Given the description of an element on the screen output the (x, y) to click on. 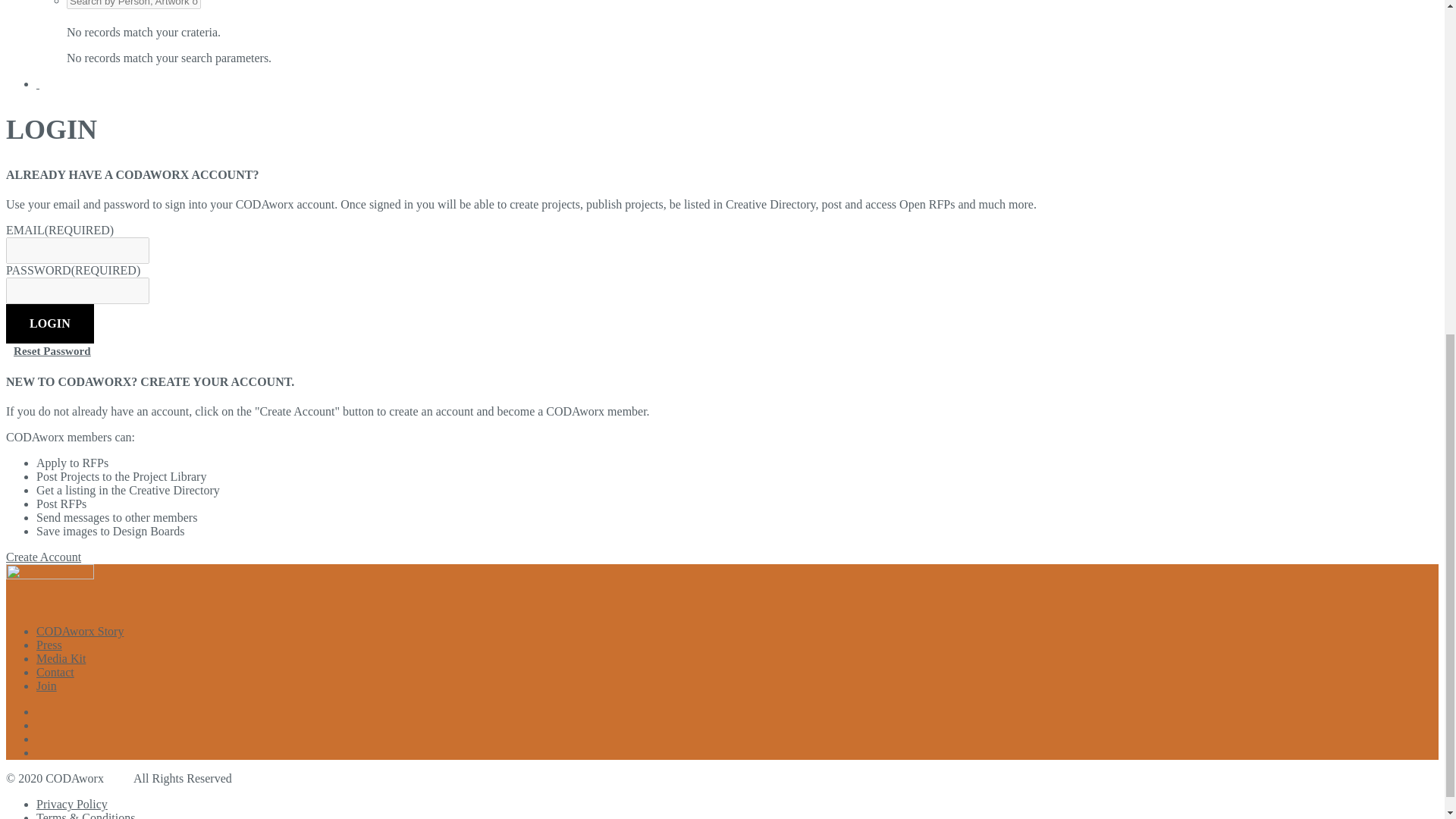
Create Account (43, 556)
Reset Password (52, 350)
CODAworx Story (79, 631)
Login (49, 323)
Login (49, 323)
